Given the description of an element on the screen output the (x, y) to click on. 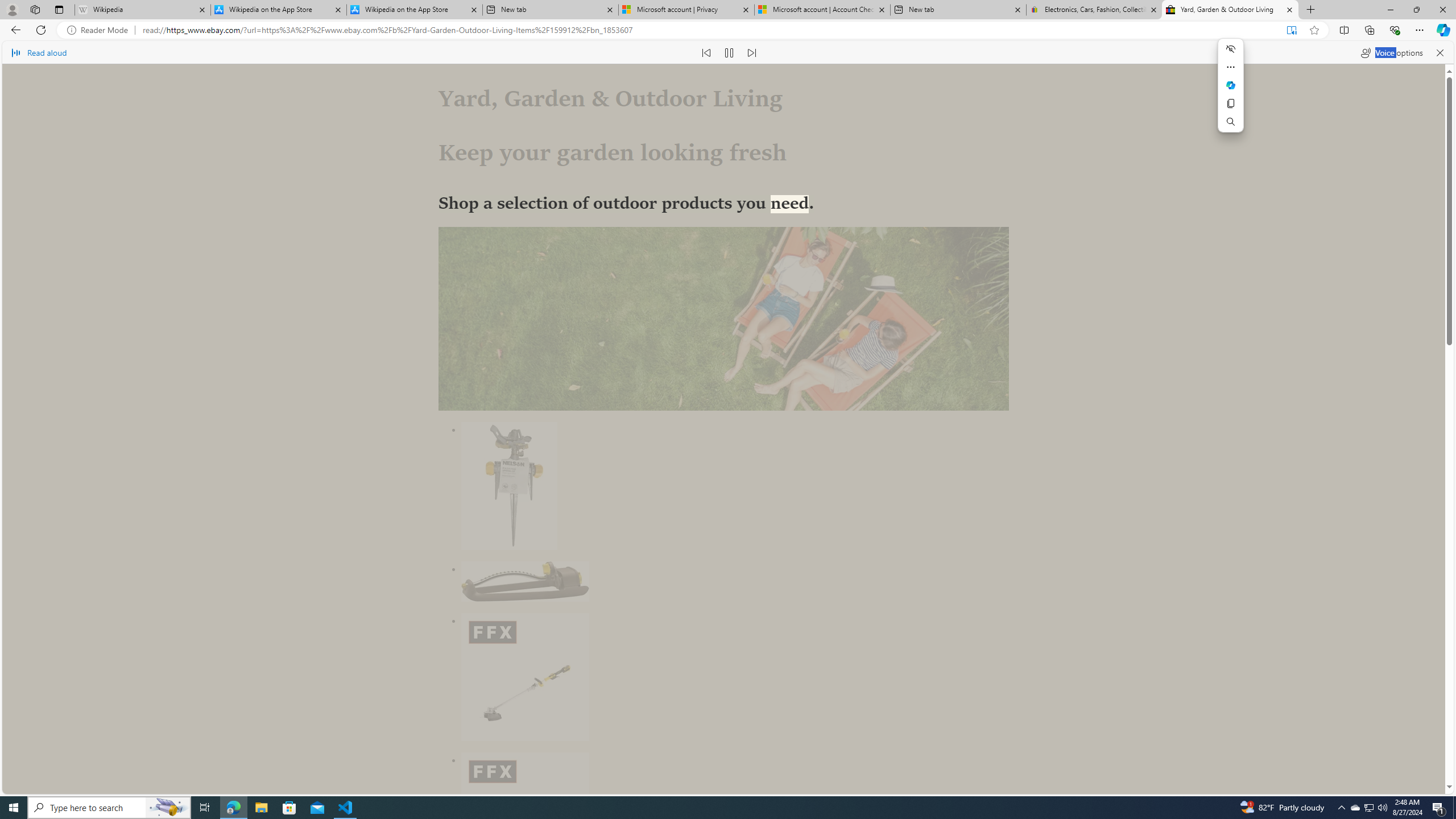
More actions (1230, 67)
grass seed (577, 509)
Copy (1230, 103)
Reader Mode (100, 29)
leaf blowers (486, 598)
cover (683, 665)
Ask Copilot (1230, 85)
Read next paragraph (751, 52)
